Given the description of an element on the screen output the (x, y) to click on. 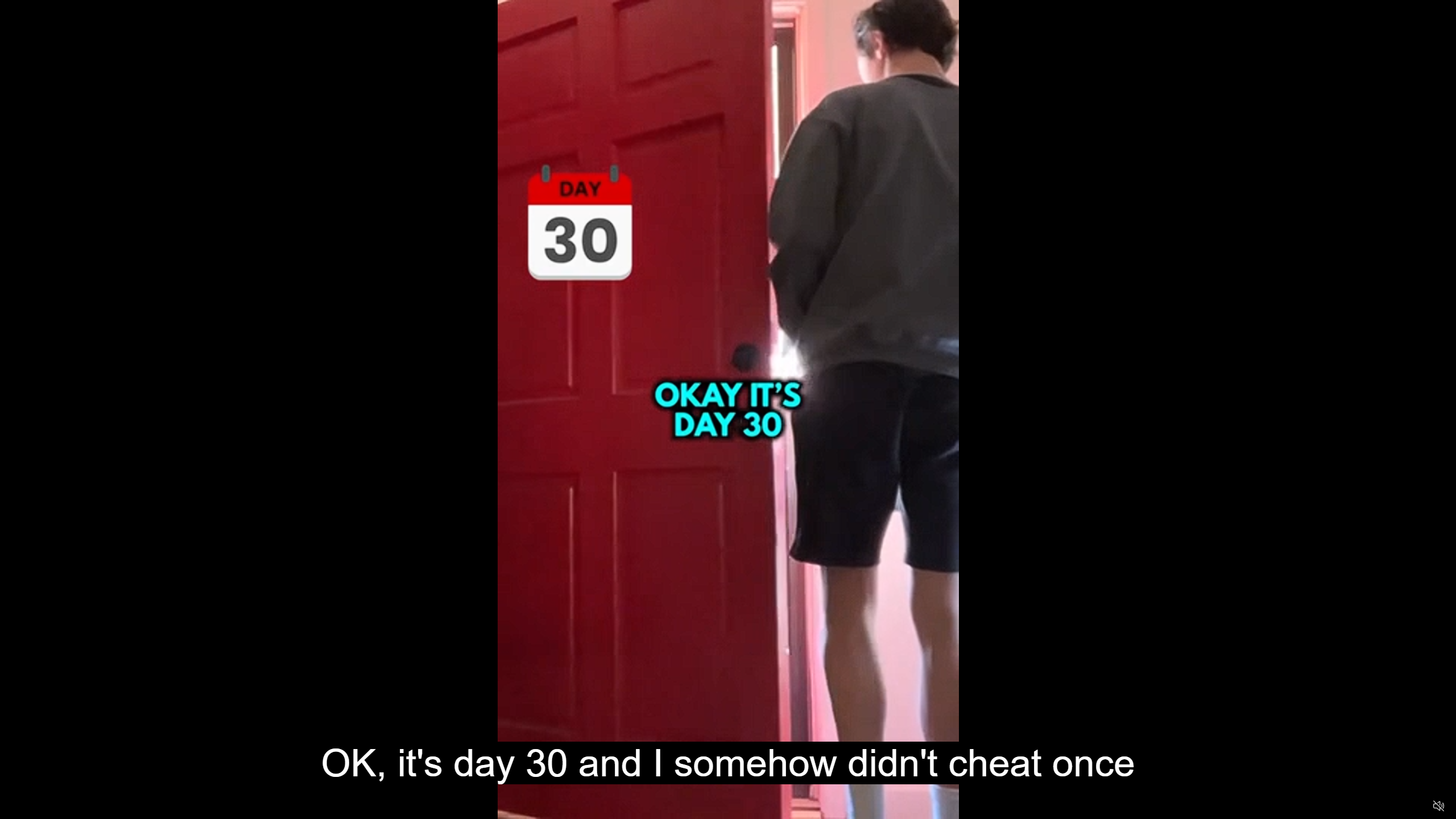
Non-Fullscreen (1417, 806)
Unmute (1438, 805)
Pause (17, 806)
Seek Forward (62, 806)
Quality Settings (1371, 806)
Captions (1394, 806)
Seek Back (39, 806)
Progress Bar (727, 791)
